Given the description of an element on the screen output the (x, y) to click on. 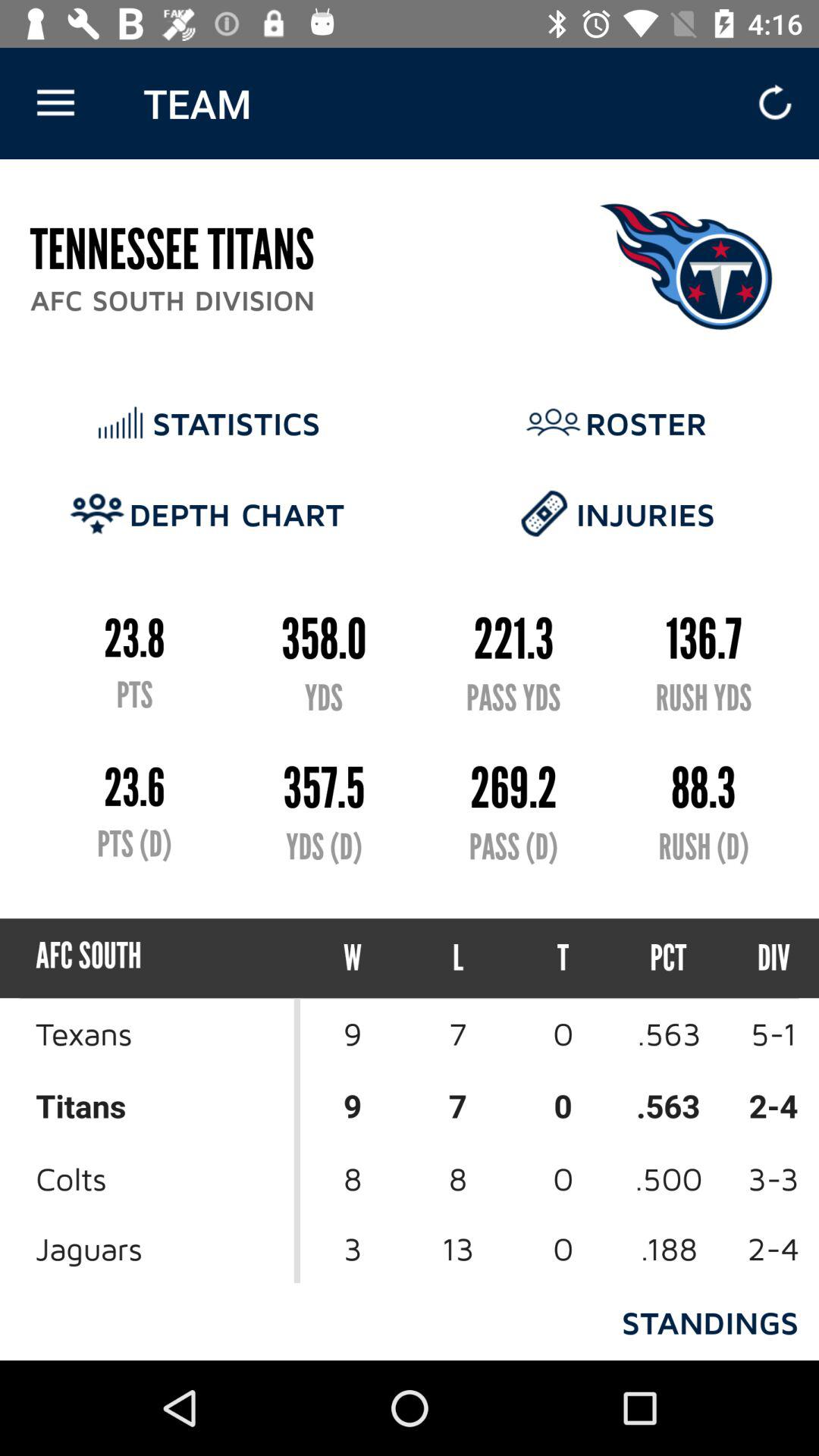
press icon next to div (668, 958)
